Given the description of an element on the screen output the (x, y) to click on. 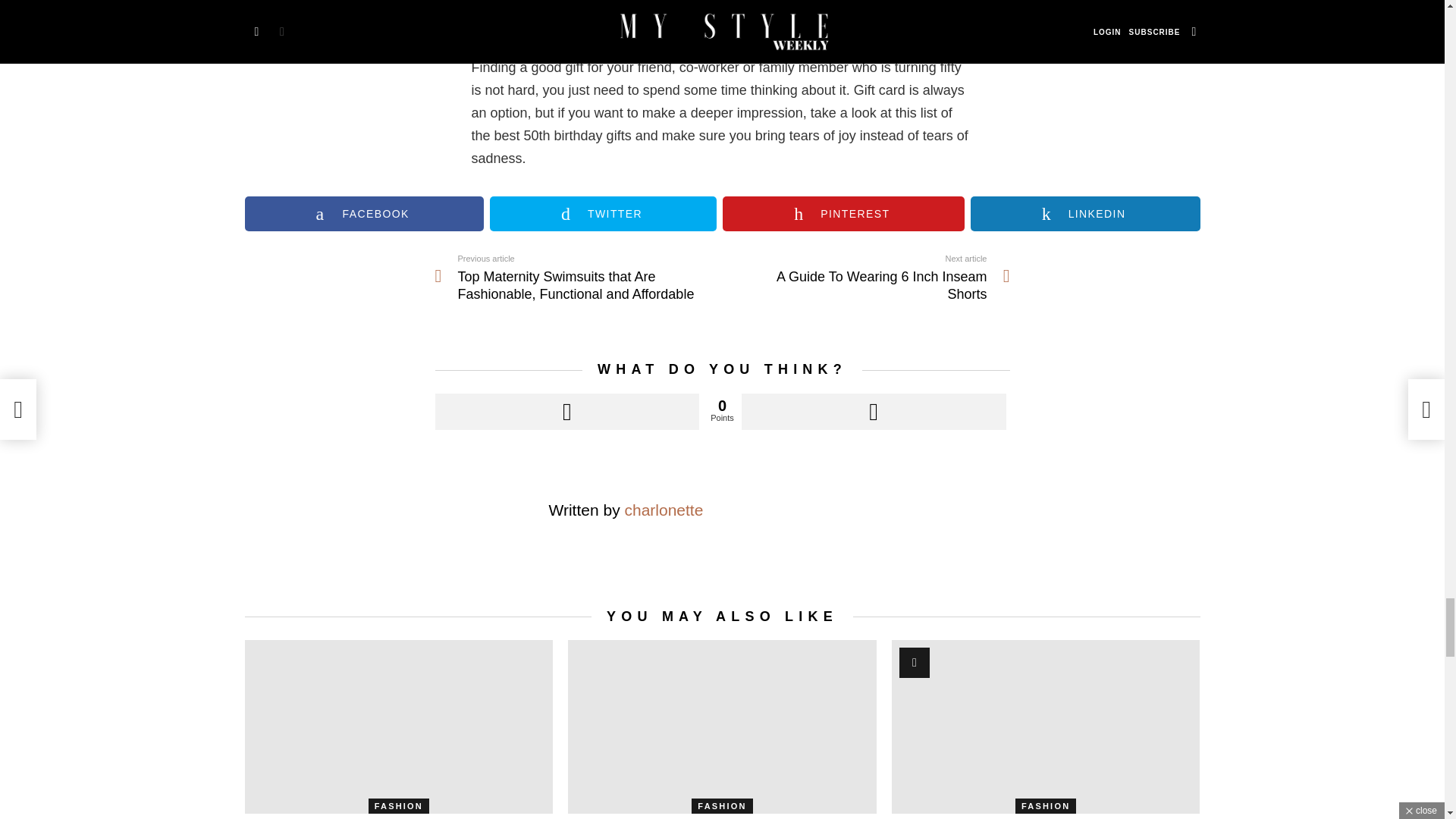
Share on Facebook (363, 213)
FASHION (721, 806)
TWITTER (602, 213)
LINKEDIN (1085, 213)
FASHION (398, 806)
Downvote (873, 411)
PINTEREST (842, 213)
Share on Pinterest (842, 213)
Upvote (567, 411)
FACEBOOK (363, 213)
Hot (914, 662)
Share on Twitter (602, 213)
charlonette (865, 277)
